Given the description of an element on the screen output the (x, y) to click on. 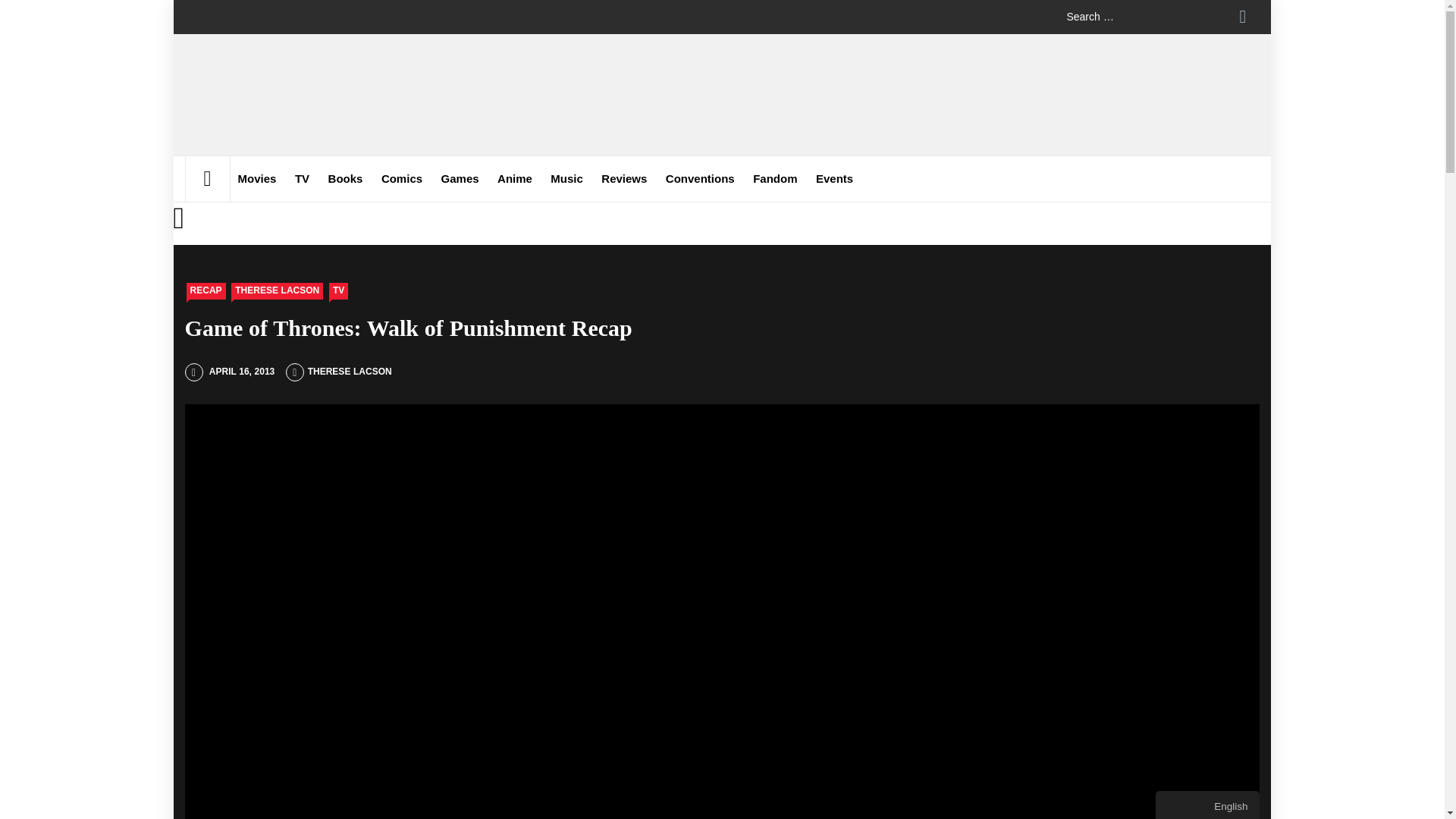
Movies (256, 178)
Reviews (623, 178)
Search (1242, 17)
Music (567, 178)
Fandom (775, 178)
Books (345, 178)
Conventions (700, 178)
Search (1242, 17)
APRIL 16, 2013 (229, 371)
Anime (514, 178)
